Given the description of an element on the screen output the (x, y) to click on. 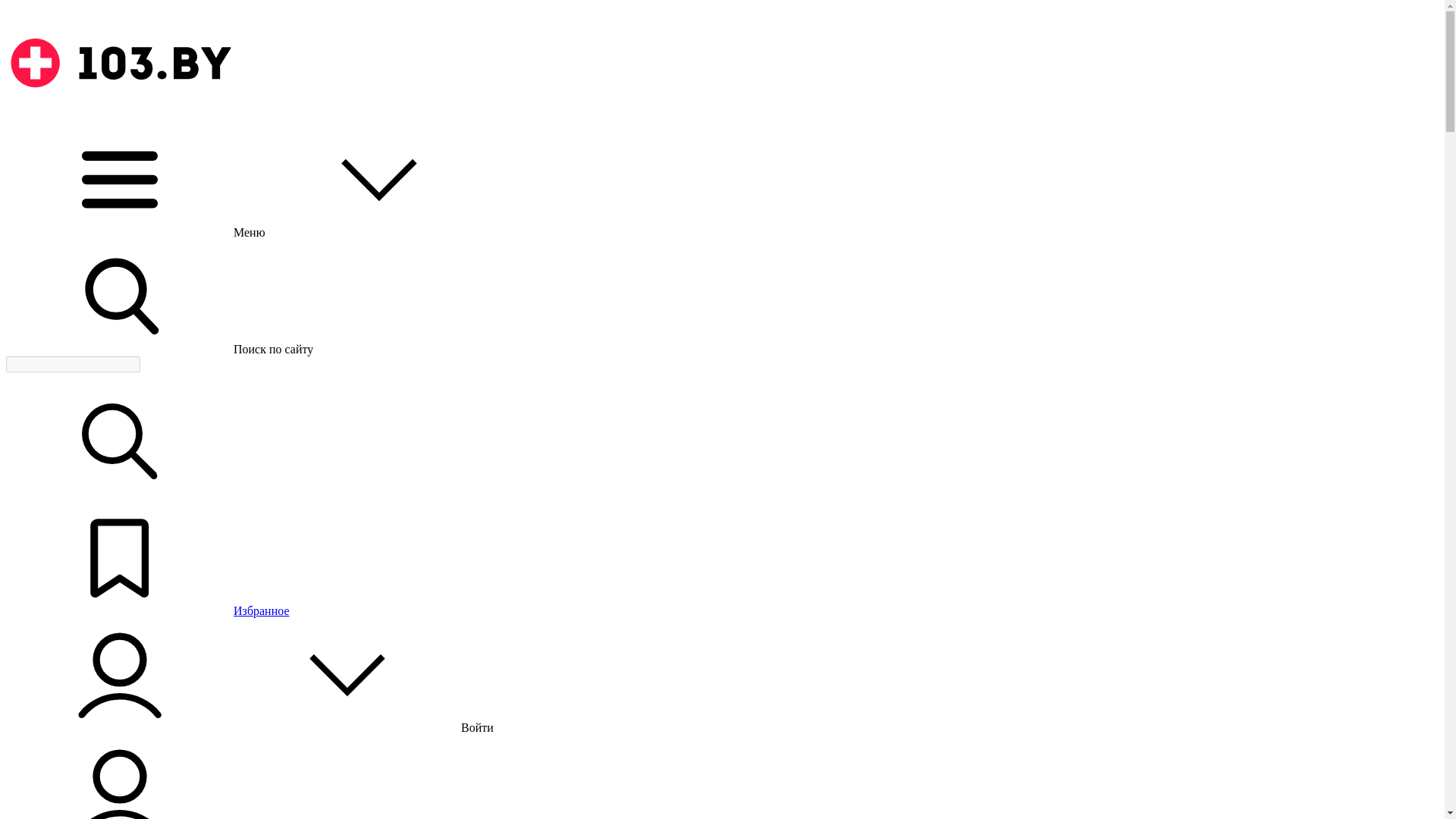
logo Element type: hover (119, 62)
logo Element type: hover (119, 115)
